Given the description of an element on the screen output the (x, y) to click on. 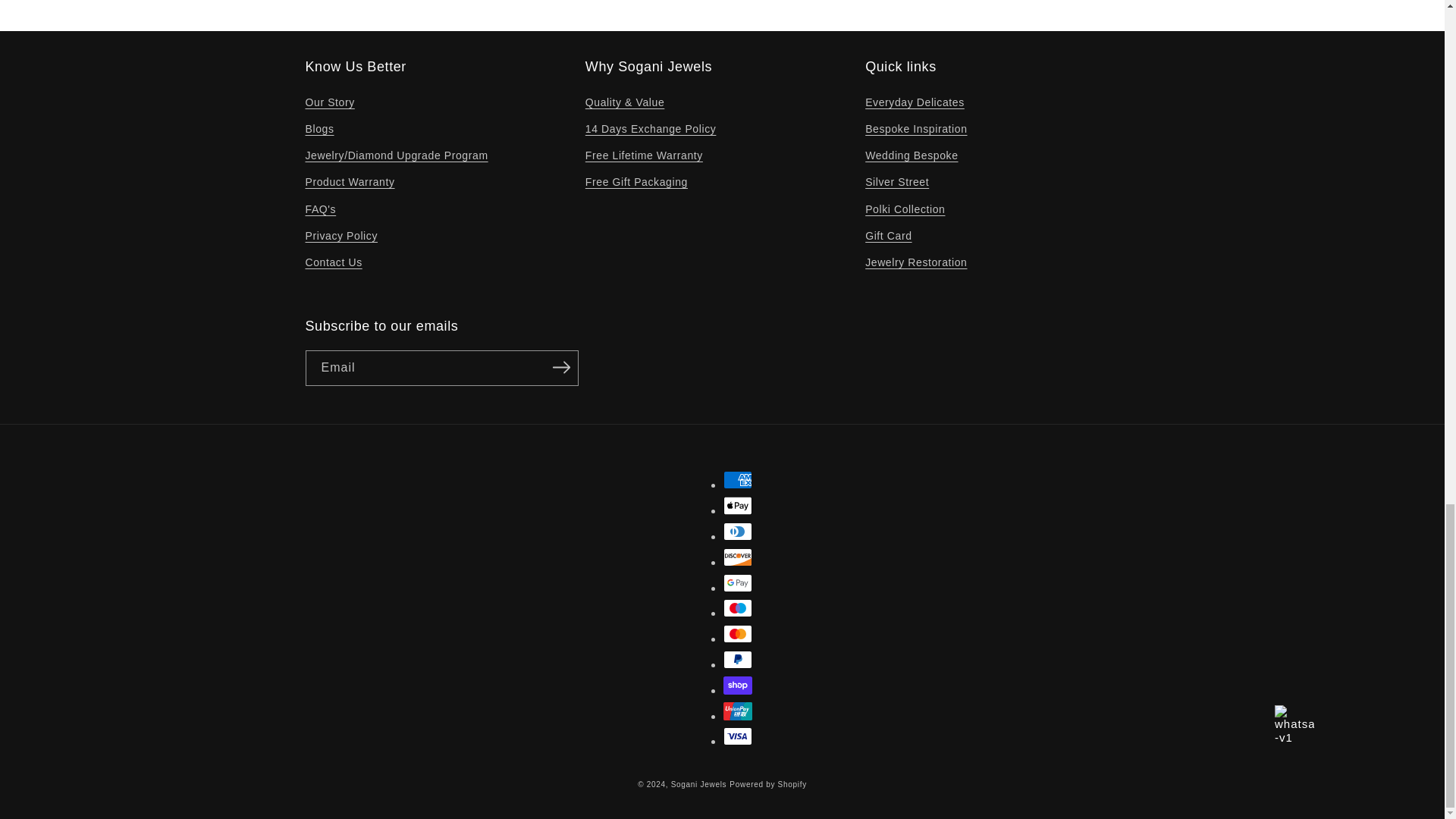
Apple Pay (737, 505)
Diners Club (737, 531)
Discover (737, 556)
American Express (737, 479)
Google Pay (737, 583)
Mastercard (737, 633)
Maestro (737, 607)
PayPal (737, 659)
